Given the description of an element on the screen output the (x, y) to click on. 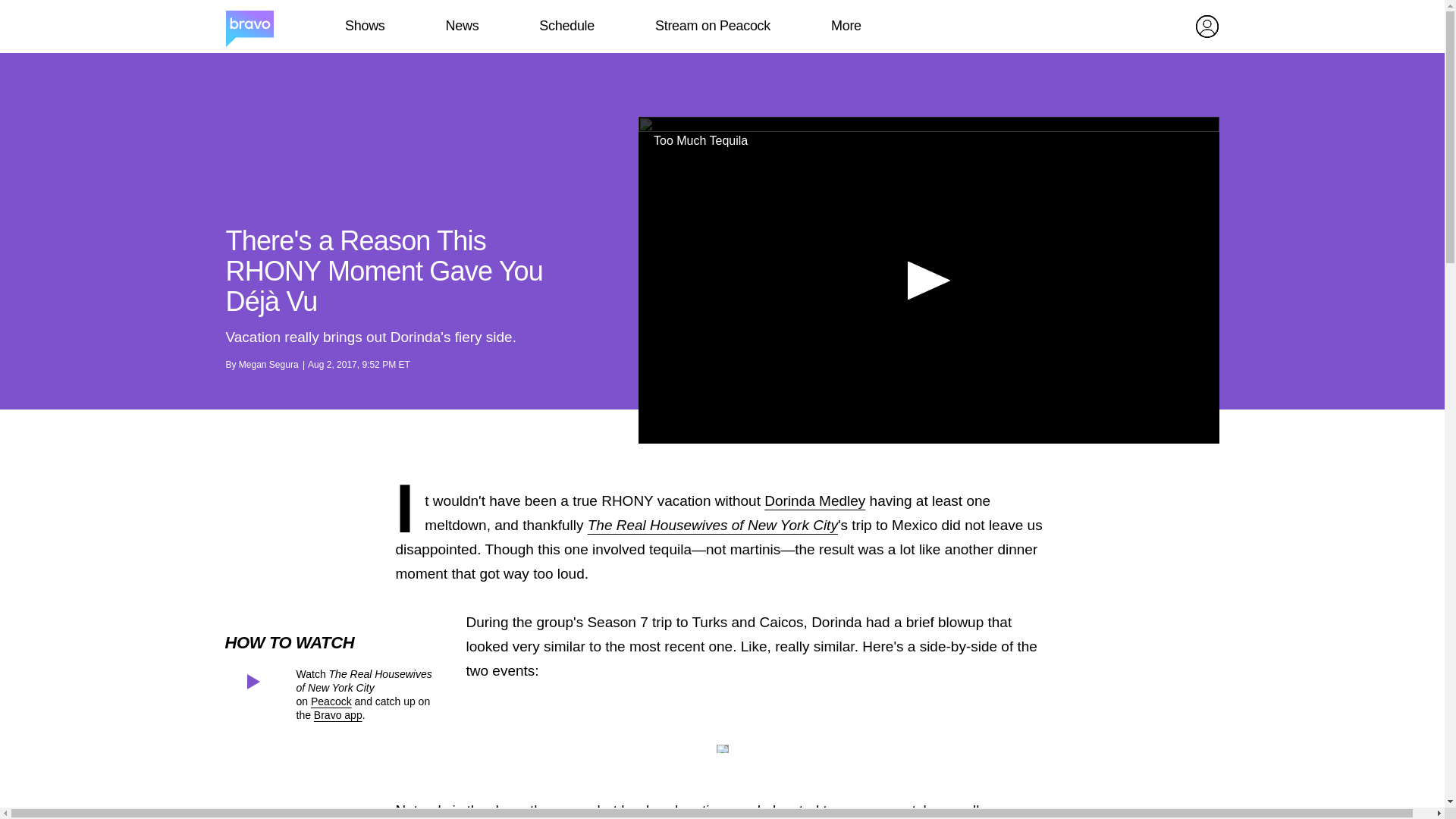
Dorinda Medley (814, 500)
Bravo app (338, 715)
News (462, 26)
Megan Segura (268, 364)
Shows (363, 26)
More (846, 26)
Stream on Peacock (712, 26)
The Real Housewives of New York City (713, 524)
Schedule (566, 26)
Home (249, 26)
Peacock (331, 701)
